Given the description of an element on the screen output the (x, y) to click on. 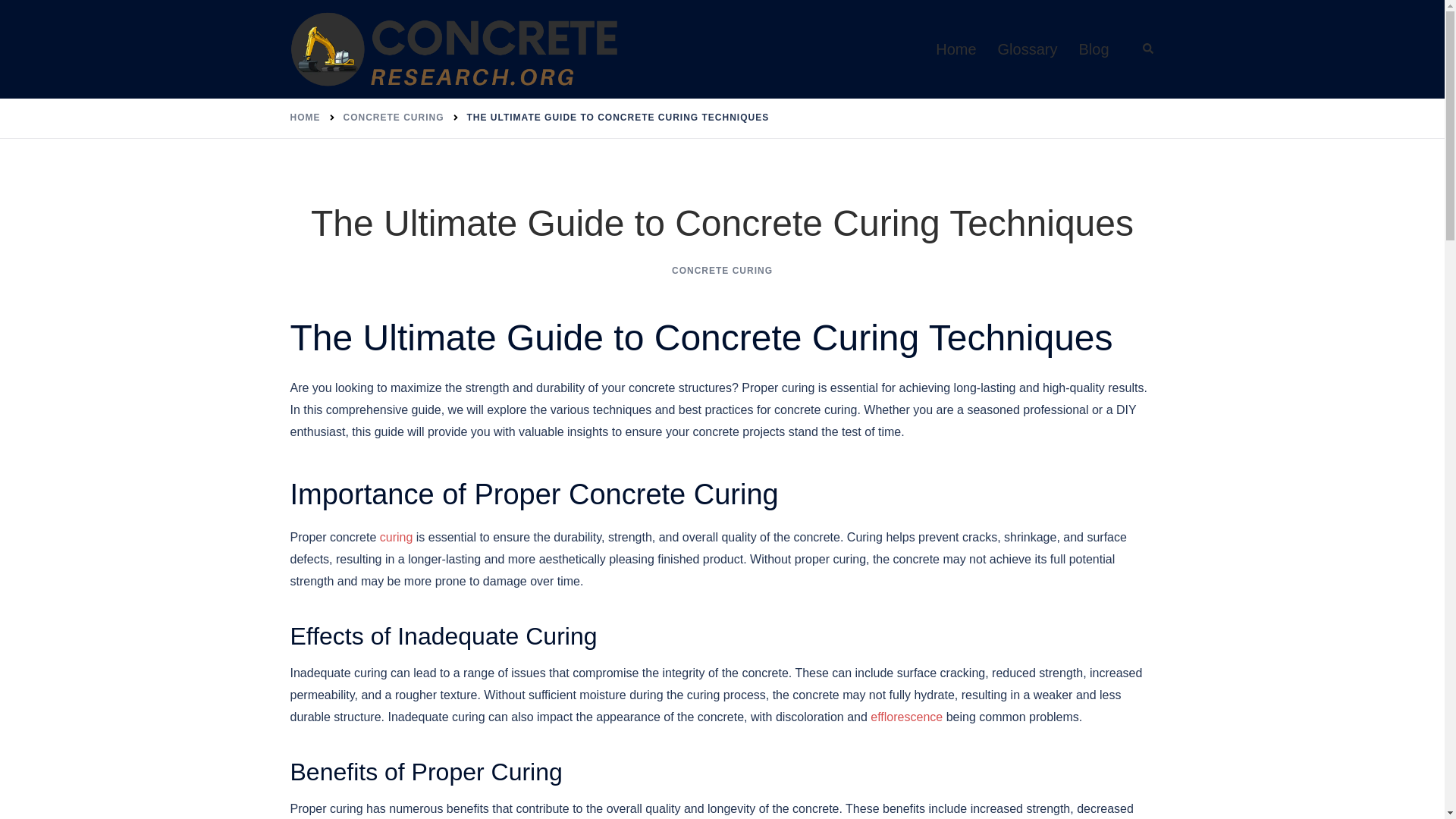
CONCRETE CURING (393, 117)
curing (396, 536)
curing (396, 536)
Home (955, 49)
efflorescence (906, 716)
Glossary (1027, 49)
Search (1147, 49)
ConcreteResearch.org (454, 47)
efflorescence (906, 716)
CONCRETE CURING (722, 270)
HOME (304, 117)
Blog (1093, 49)
